Given the description of an element on the screen output the (x, y) to click on. 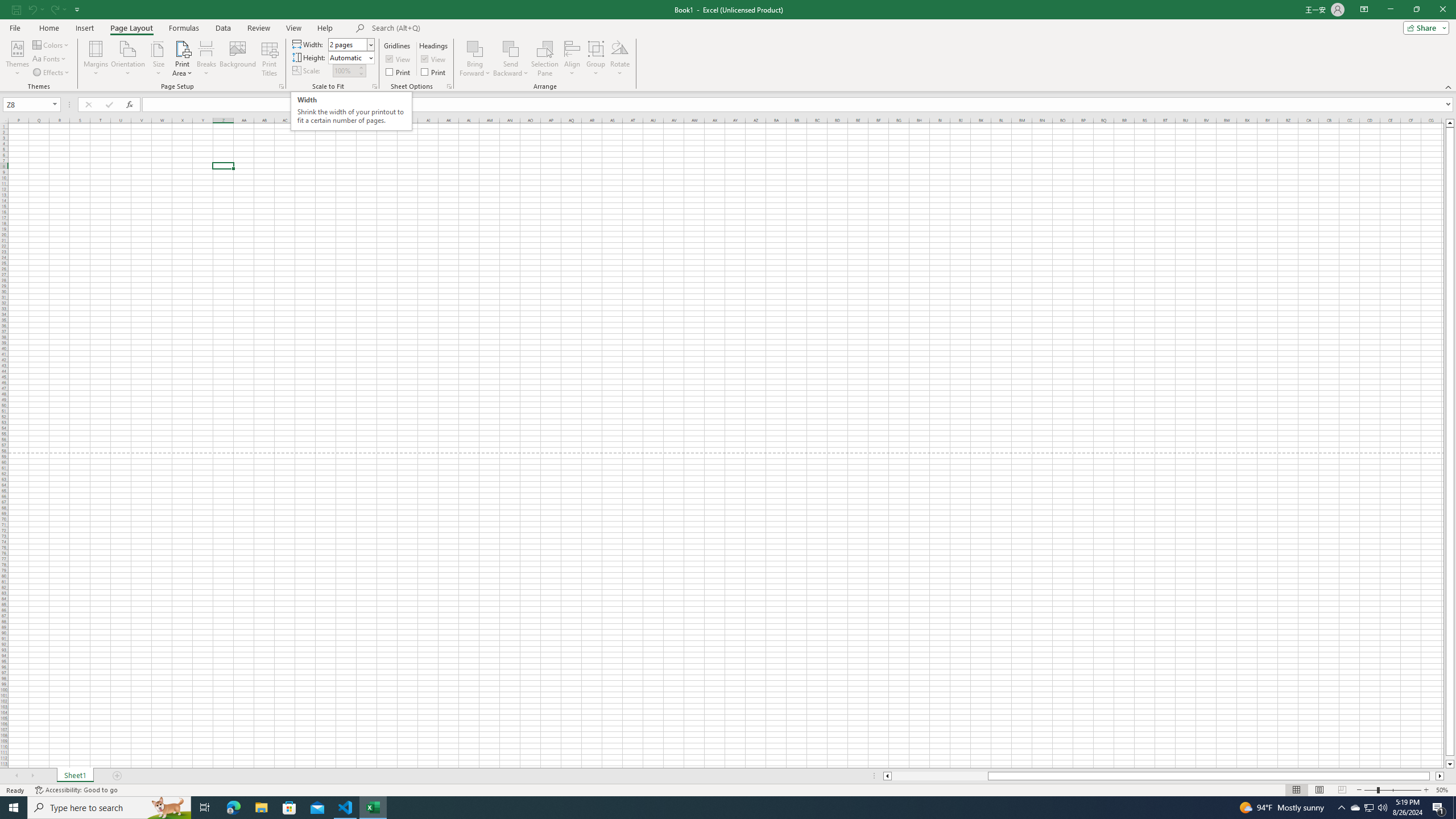
Colors (51, 44)
Print (434, 71)
Open (54, 104)
Normal (1296, 790)
Share (1423, 27)
Page right (1432, 775)
Line down (1449, 764)
Save (16, 9)
Restore Down (1416, 9)
Rotate (619, 58)
Undo (35, 9)
Class: MsoCommandBar (728, 45)
Background... (237, 58)
Page Break Preview (1342, 790)
